Given the description of an element on the screen output the (x, y) to click on. 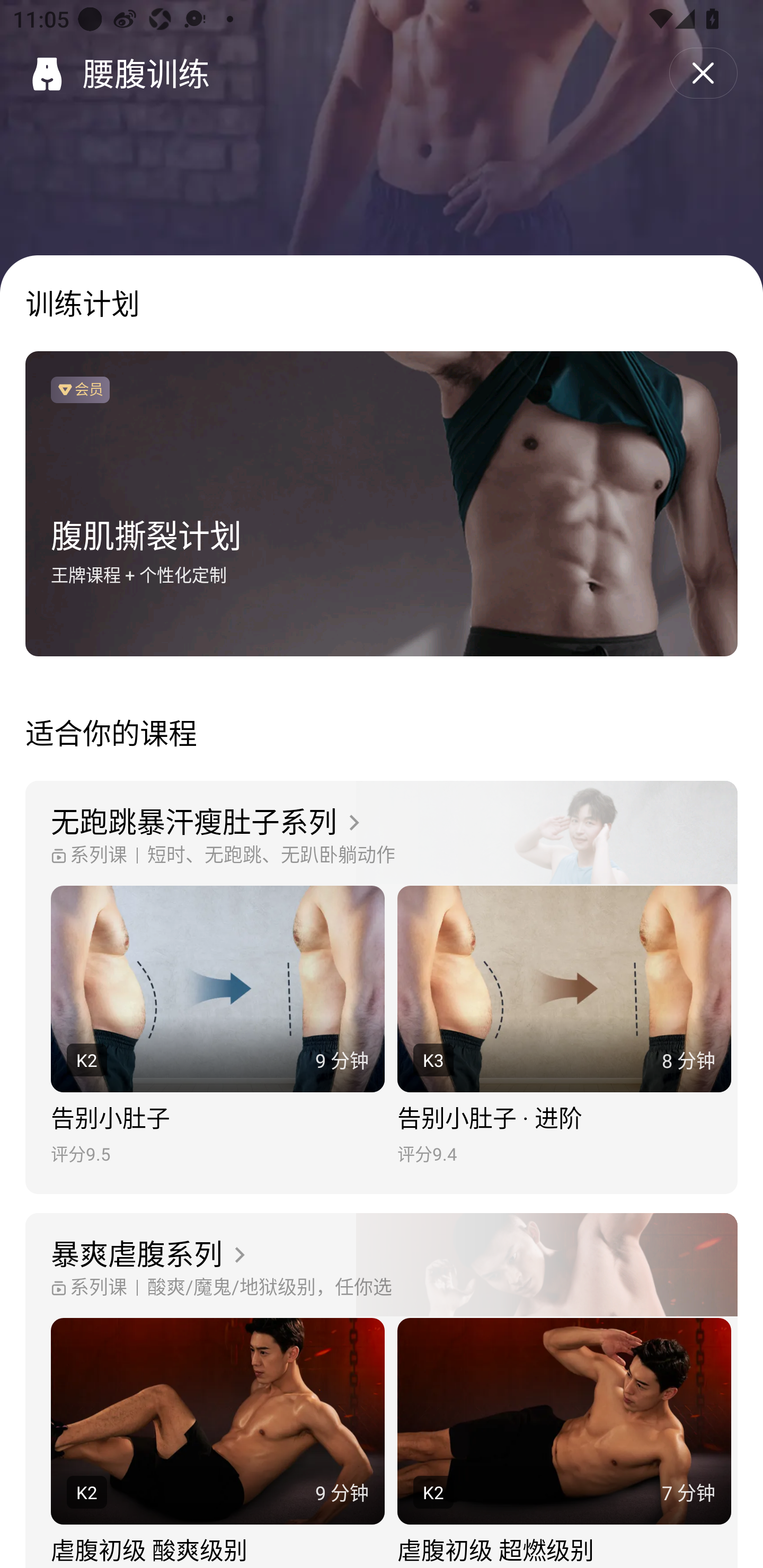
会员 腹肌撕裂计划 王牌课程 + 个性化定制 (381, 503)
无跑跳暴汗瘦肚子系列 系列课 短时、无跑跳、无趴卧躺动作 (381, 832)
K2 9 分钟 告别小肚子 评分9.5 (217, 1025)
K3 8 分钟 告别小肚子 · 进阶 评分9.4 (563, 1025)
暴爽虐腹系列 系列课 酸爽/魔鬼/地狱级别，任你选 (381, 1265)
K2 9 分钟 虐腹初级 酸爽级别 (217, 1443)
K2 7 分钟 虐腹初级 超燃级别 (563, 1443)
